Given the description of an element on the screen output the (x, y) to click on. 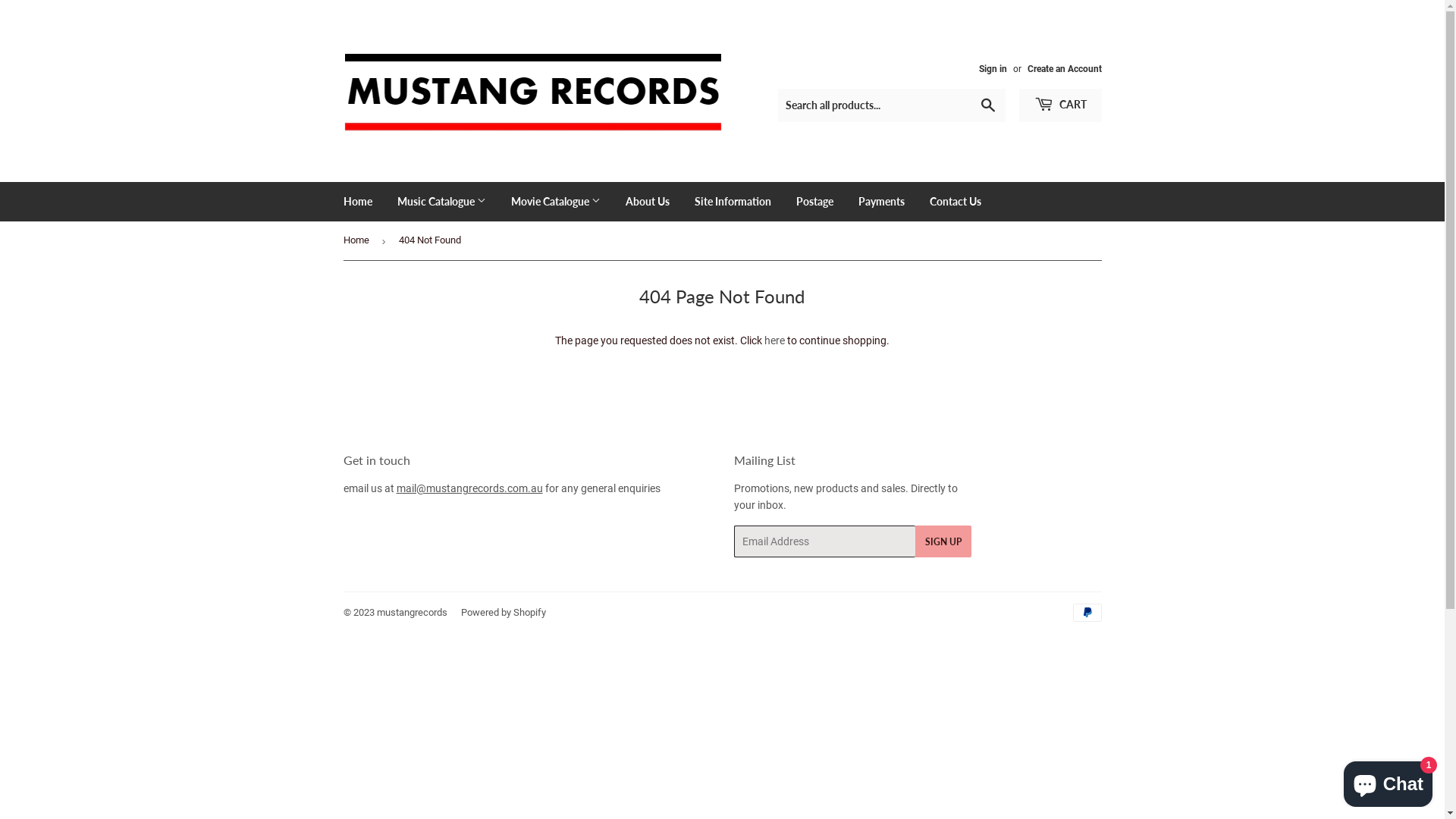
Create an Account Element type: text (1063, 68)
Search Element type: text (987, 106)
Site Information Element type: text (731, 201)
Sign in Element type: text (992, 68)
SIGN UP Element type: text (943, 541)
Postage Element type: text (814, 201)
Home Element type: text (357, 240)
About Us Element type: text (647, 201)
Powered by Shopify Element type: text (503, 612)
Shopify online store chat Element type: hover (1388, 780)
Contact Us Element type: text (954, 201)
here Element type: text (774, 340)
Movie Catalogue Element type: text (554, 201)
CART Element type: text (1060, 105)
Music Catalogue Element type: text (440, 201)
Payments Element type: text (880, 201)
mustangrecords Element type: text (411, 612)
Home Element type: text (357, 201)
